Given the description of an element on the screen output the (x, y) to click on. 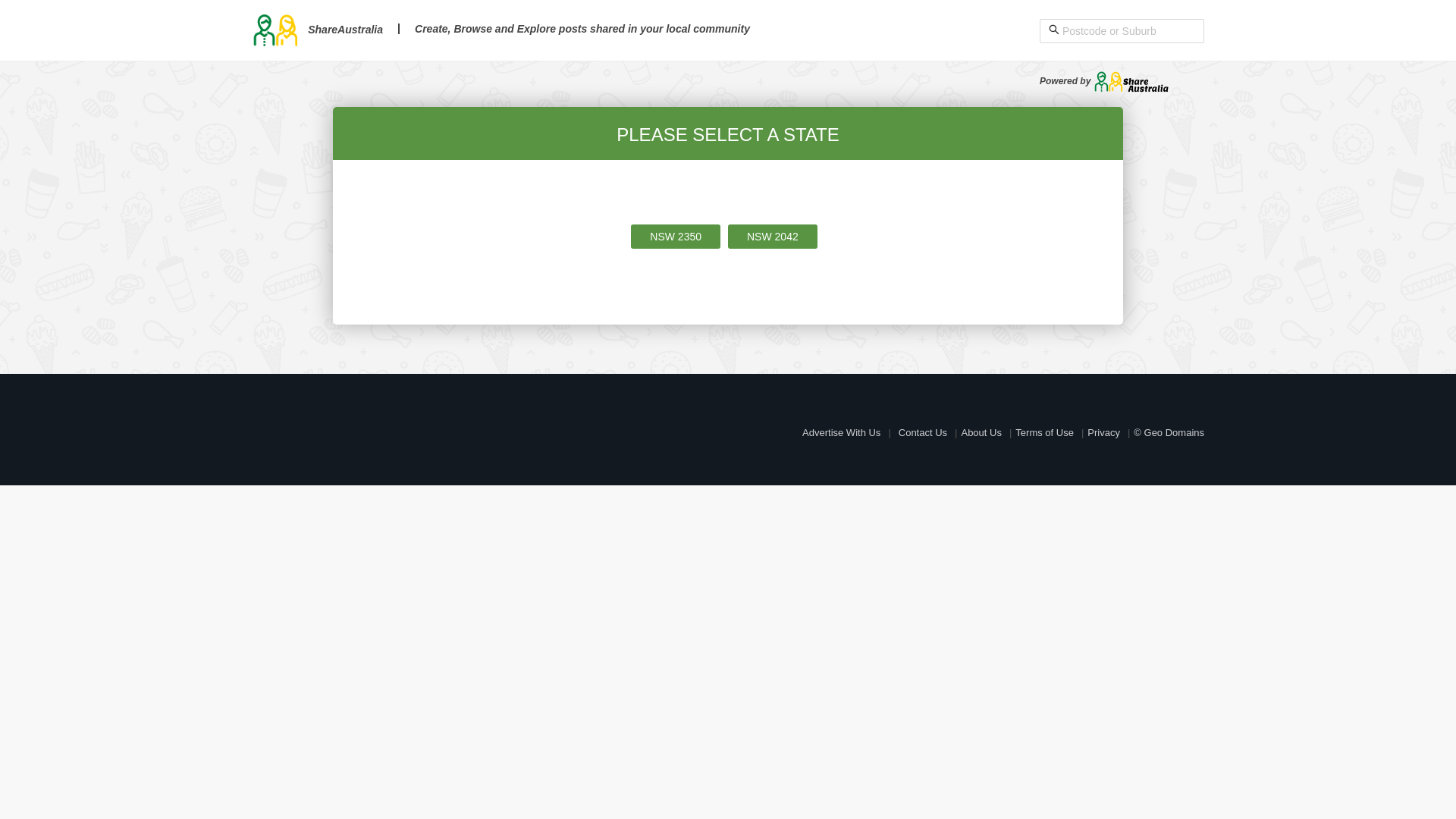
Advertise With Us Element type: text (841, 432)
Contact Us Element type: text (922, 432)
ShareAustralia Element type: text (316, 29)
Powered by Element type: text (1104, 80)
Privacy Element type: text (1103, 432)
Terms of Use Element type: text (1044, 432)
NSW 2350 Element type: text (675, 236)
About Us Element type: text (980, 432)
NSW 2042 Element type: text (772, 236)
